Given the description of an element on the screen output the (x, y) to click on. 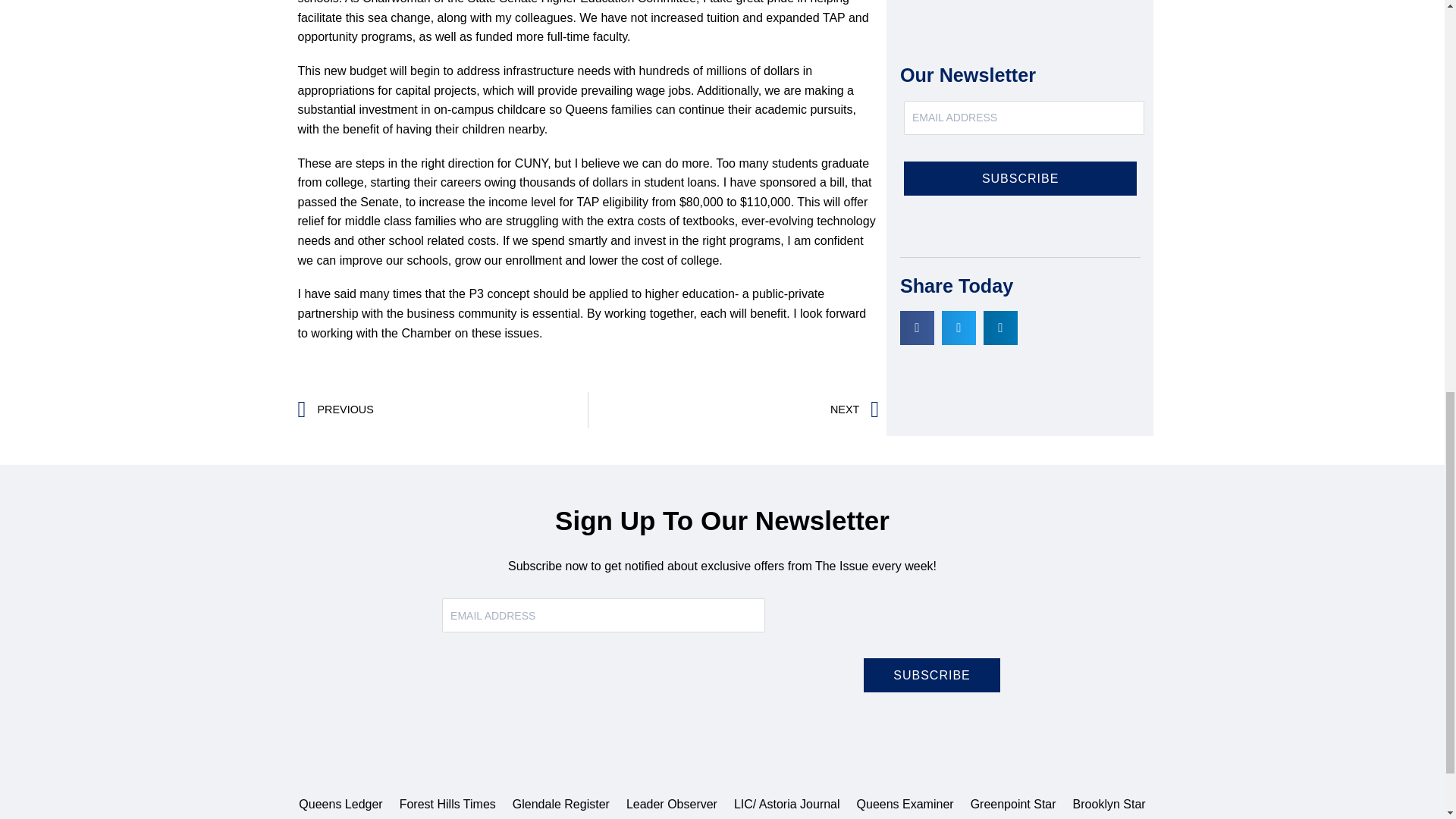
Subscribe (1020, 178)
Subscribe (931, 675)
